Given the description of an element on the screen output the (x, y) to click on. 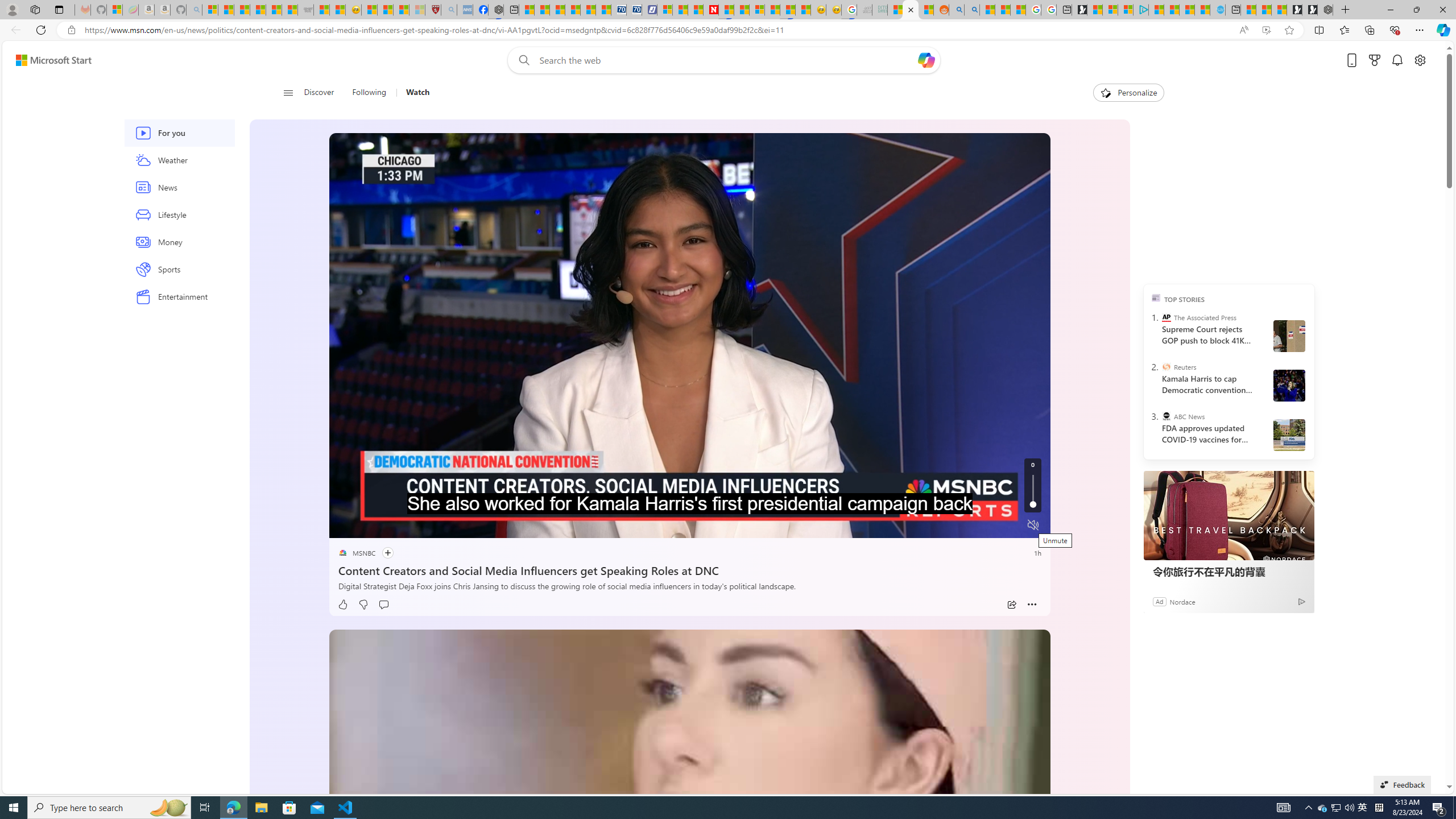
Robert H. Shmerling, MD - Harvard Health (432, 9)
ABC News (1165, 415)
Newsweek - News, Analysis, Politics, Business, Technology (710, 9)
Fullscreen (1011, 525)
Home | Sky Blue Bikes - Sky Blue Bikes (1217, 9)
Utah sues federal government - Search (971, 9)
